Given the description of an element on the screen output the (x, y) to click on. 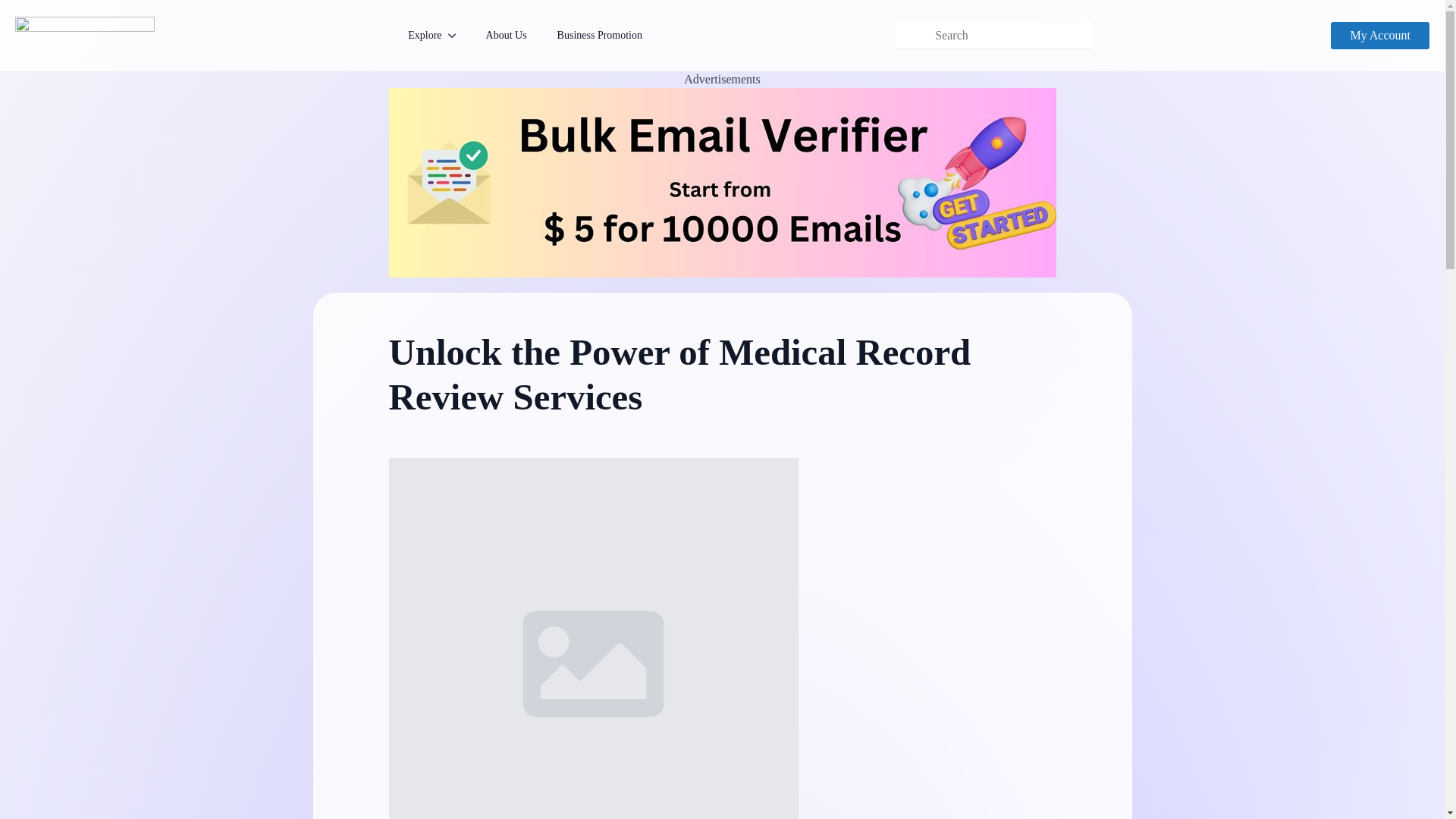
Business Promotion (599, 35)
About Us (505, 35)
Explore (417, 35)
My Account (1379, 35)
